Given the description of an element on the screen output the (x, y) to click on. 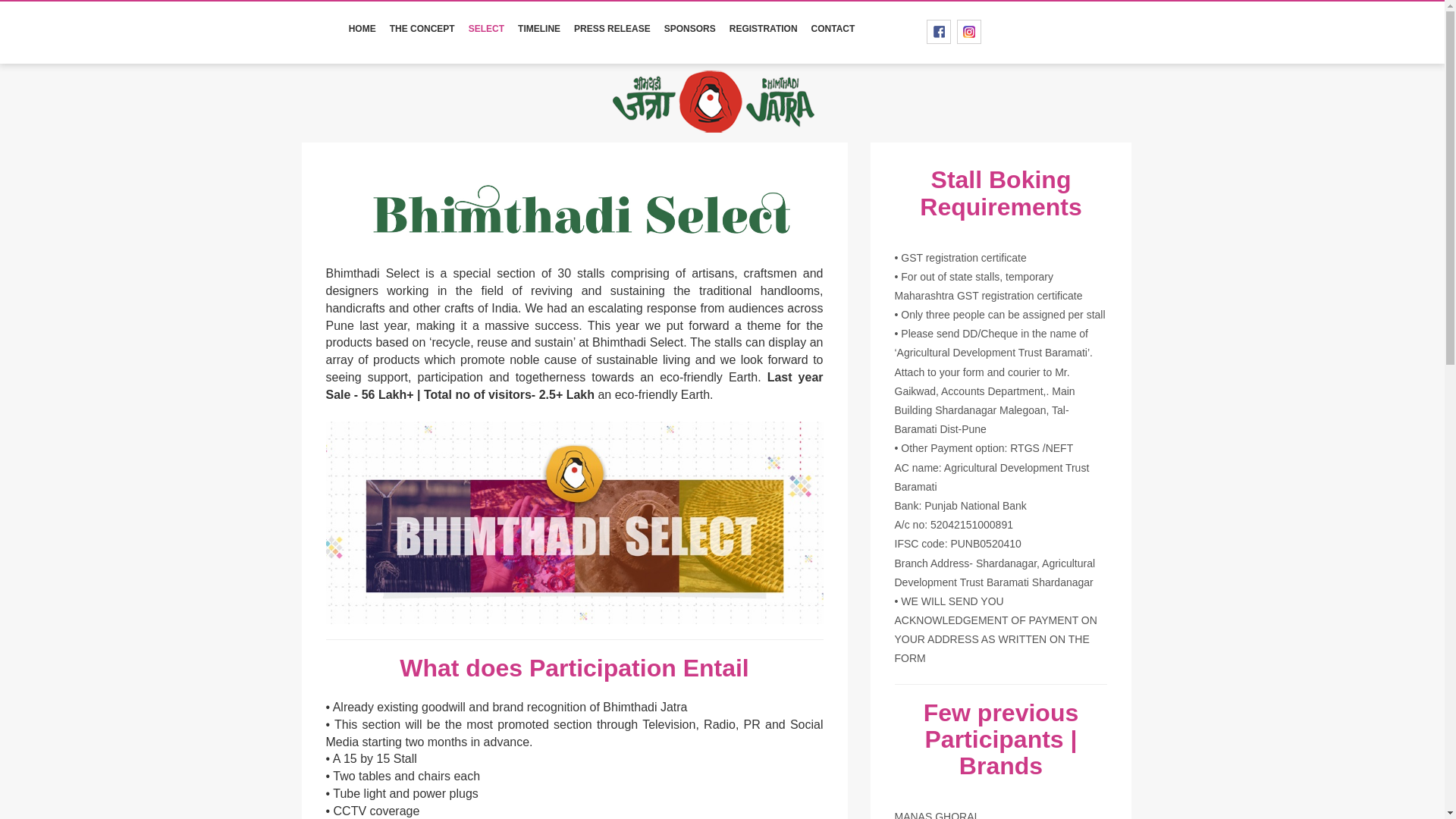
CONTACT (833, 28)
TIMELINE (539, 28)
THE CONCEPT (421, 28)
HOME (362, 28)
PRESS RELEASE (612, 28)
REGISTRATION (763, 28)
SPONSORS (690, 28)
SELECT (486, 28)
